Given the description of an element on the screen output the (x, y) to click on. 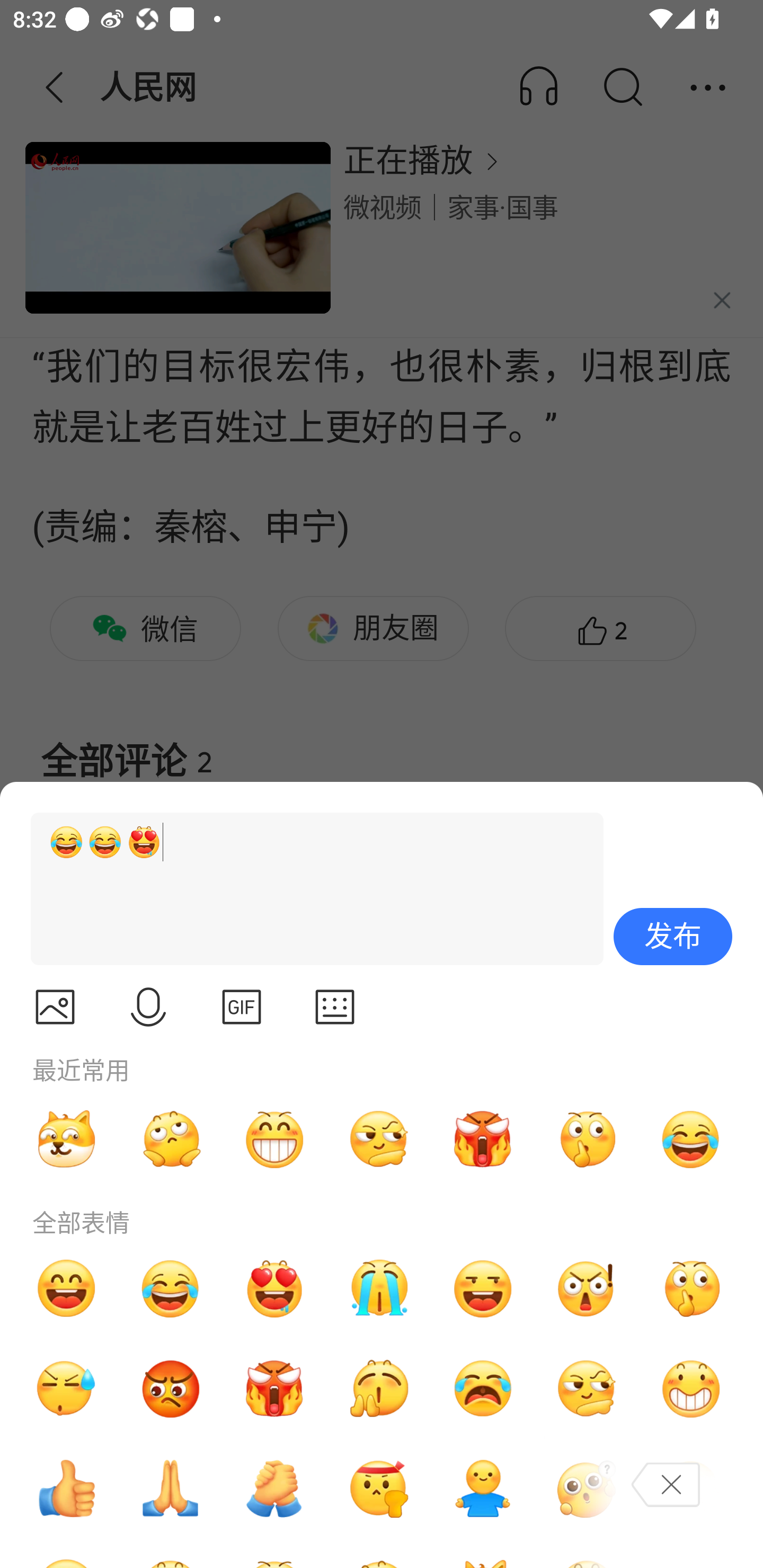
[哭笑][哭笑][喜欢] (308, 888)
发布 (672, 936)
 (54, 1007)
 (148, 1007)
 (241, 1007)
 (334, 1007)
奸笑 (66, 1138)
无聊 (170, 1138)
呲牙 (274, 1138)
机智 (378, 1138)
愤怒 (482, 1138)
嘘 (586, 1138)
哭笑 (690, 1138)
哈哈 (66, 1288)
哭笑 (170, 1288)
喜欢 (274, 1288)
哭 (378, 1288)
嘿嘿 (482, 1288)
吃惊 (586, 1288)
嘘 (690, 1288)
汗 (66, 1389)
生气 (170, 1389)
愤怒 (274, 1389)
喝彩 (378, 1389)
抓狂 (482, 1389)
机智 (586, 1389)
坏笑 (690, 1389)
点赞 (66, 1488)
缅怀 (170, 1488)
加油 (274, 1488)
奋斗 (378, 1488)
抱抱 (482, 1488)
疑问 (586, 1488)
捂脸 (690, 1488)
